Given the description of an element on the screen output the (x, y) to click on. 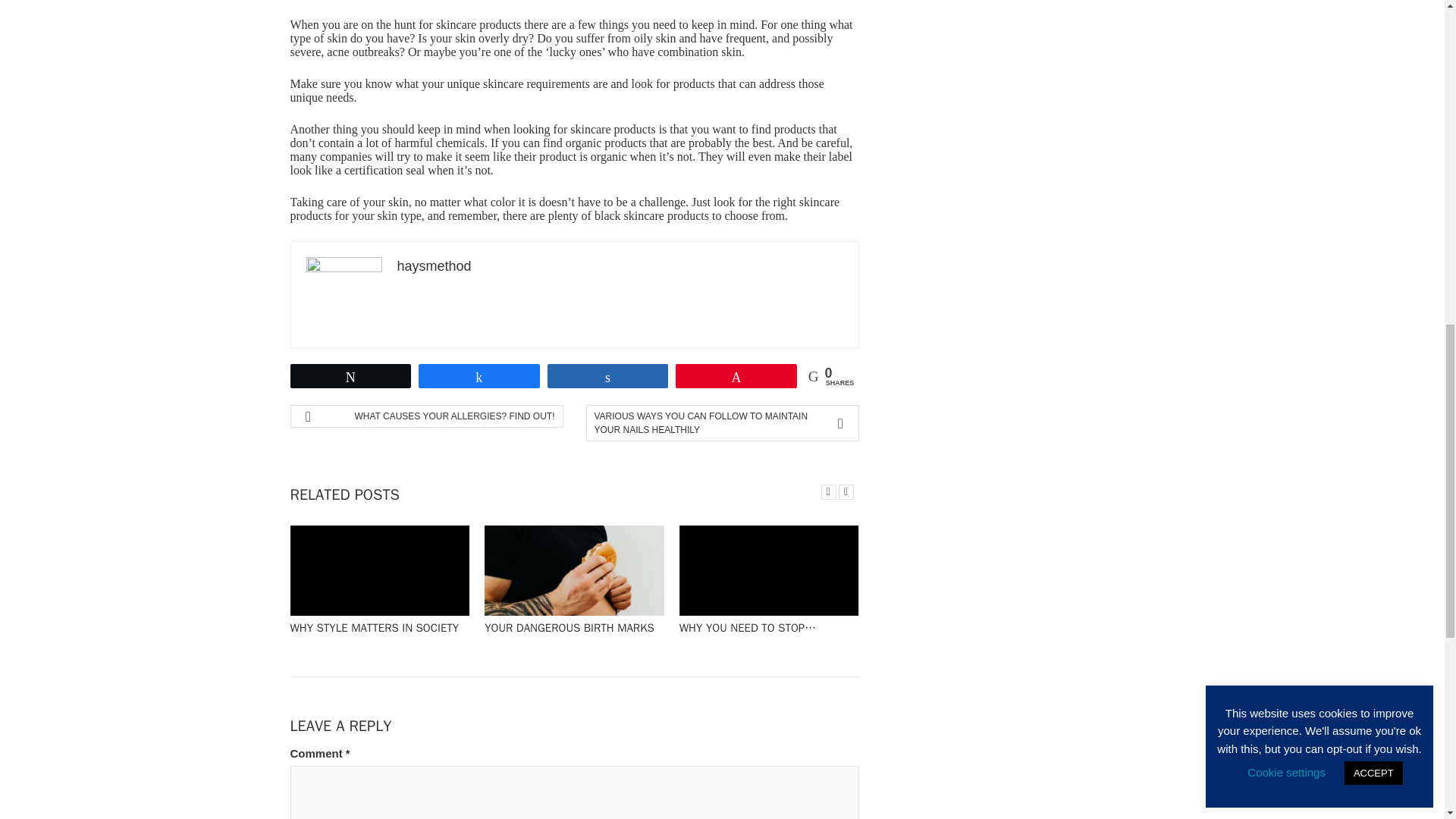
VARIOUS WAYS YOU CAN FOLLOW TO MAINTAIN YOUR NAILS HEALTHILY (714, 422)
WHAT CAUSES YOUR ALLERGIES? FIND OUT! (432, 416)
haysmethod (434, 265)
